Given the description of an element on the screen output the (x, y) to click on. 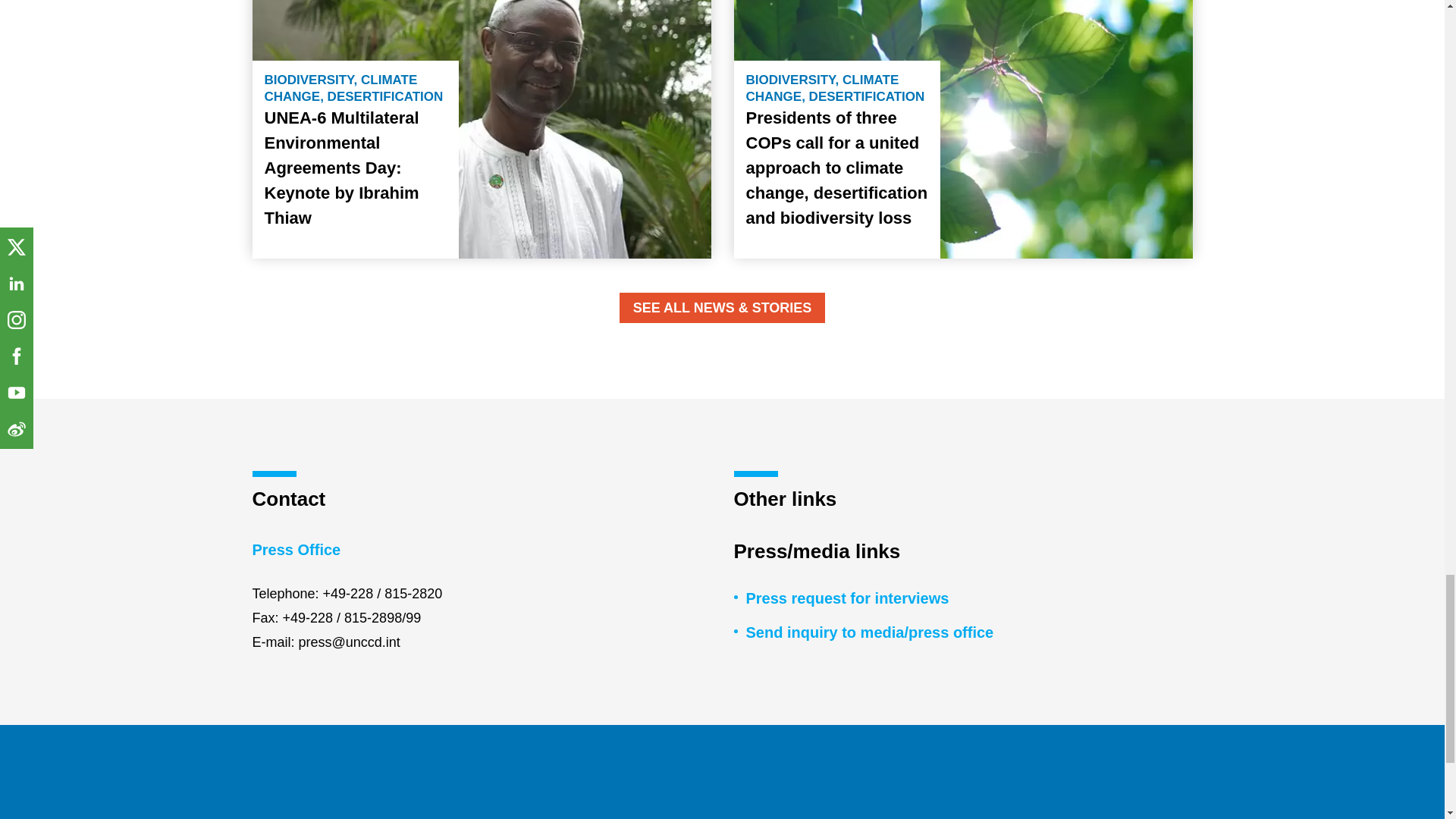
BIODIVERSITY, CLIMATE CHANGE, DESERTIFICATION (354, 88)
